Given the description of an element on the screen output the (x, y) to click on. 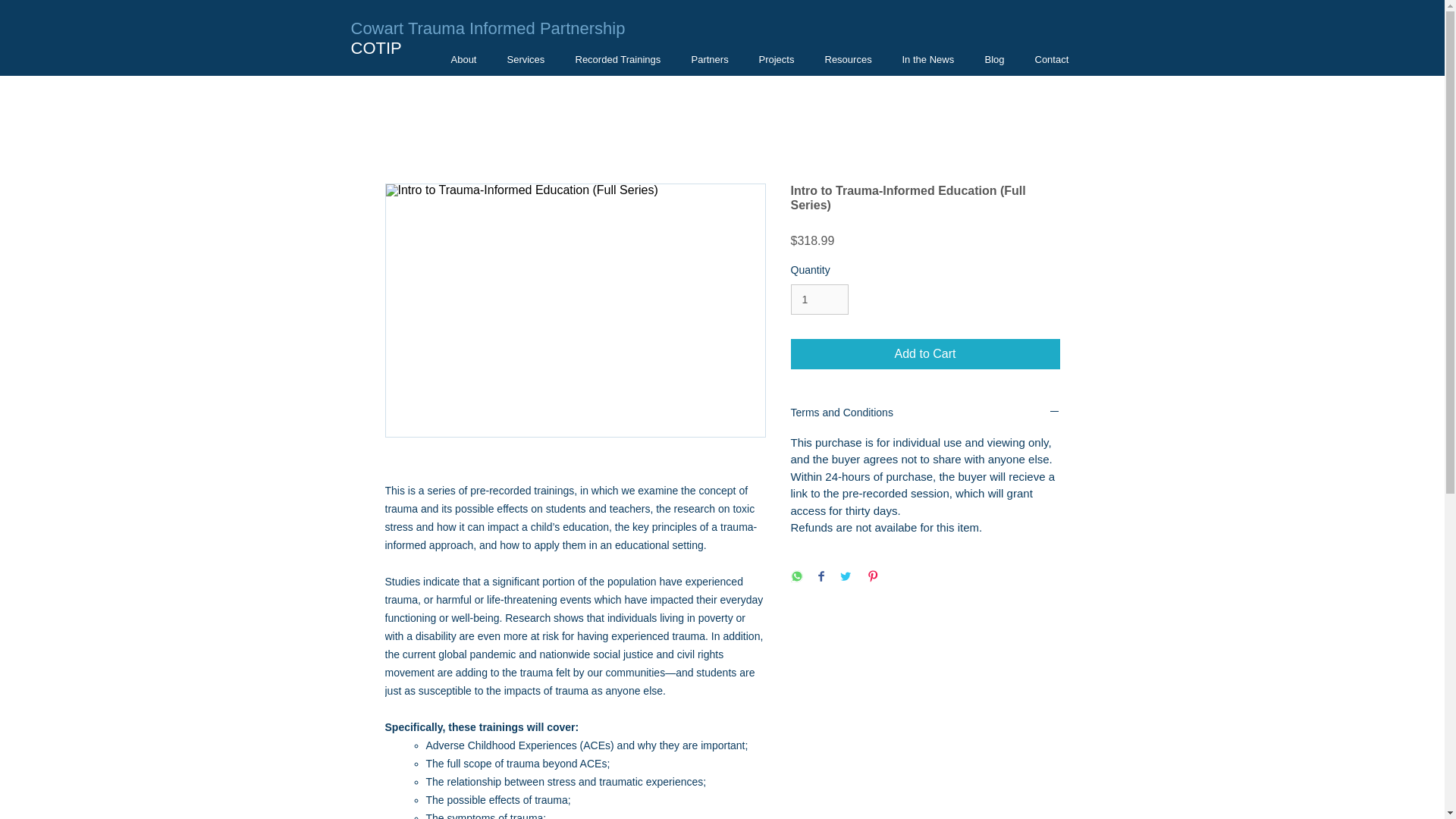
Recorded Trainings (617, 58)
Projects (775, 58)
Services (525, 58)
In the News (927, 58)
About (463, 58)
Cowart Trauma Informed Partnership (487, 27)
Blog (994, 58)
Add to Cart (924, 354)
1 (818, 299)
Contact (1051, 58)
